Given the description of an element on the screen output the (x, y) to click on. 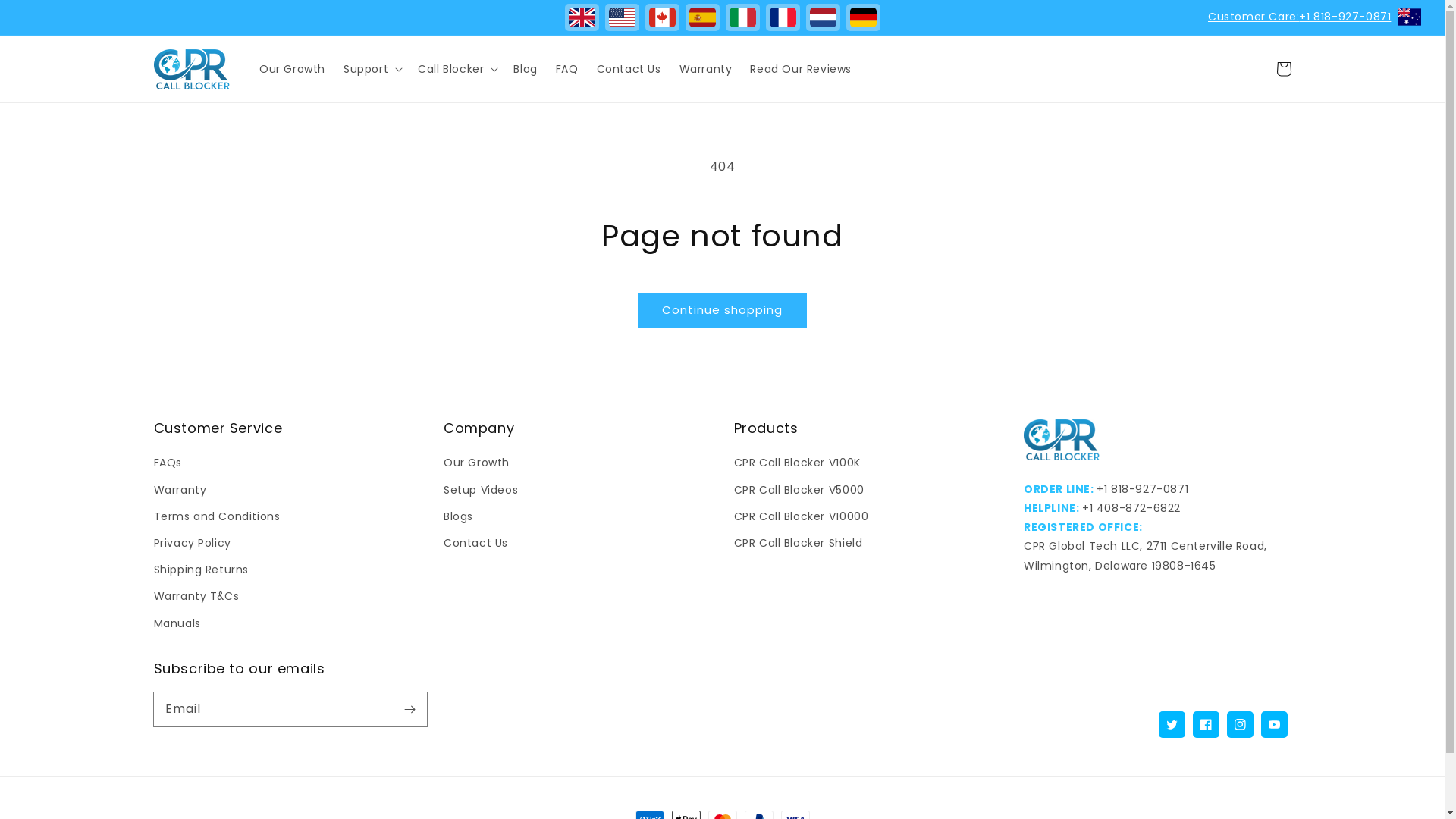
Warranty Element type: text (705, 68)
Privacy Policy Element type: text (191, 543)
Continue shopping Element type: text (722, 310)
Contact Us Element type: text (475, 543)
Our Growth Element type: text (476, 464)
Manuals Element type: text (176, 623)
Warranty Element type: text (179, 489)
FAQ Element type: text (566, 68)
Contact Us Element type: text (628, 68)
Blogs Element type: text (458, 516)
Warranty T&Cs Element type: text (195, 596)
Twitter Element type: text (1171, 724)
CPR Call Blocker V100K Element type: text (797, 464)
FAQs Element type: text (167, 464)
Blog Element type: text (525, 68)
Terms and Conditions Element type: text (216, 516)
YouTube Element type: text (1274, 724)
CPR Call Blocker V10000 Element type: text (801, 516)
Instagram Element type: text (1239, 724)
Our Growth Element type: text (292, 68)
Customer Care:+1 818-927-0871 Element type: text (1299, 16)
CPR Call Blocker Shield Element type: text (798, 543)
Setup Videos Element type: text (480, 489)
Shipping Returns Element type: text (200, 569)
Read Our Reviews Element type: text (800, 68)
CPR Call Blocker V5000 Element type: text (799, 489)
Cart Element type: text (1282, 68)
Facebook Element type: text (1206, 724)
